Given the description of an element on the screen output the (x, y) to click on. 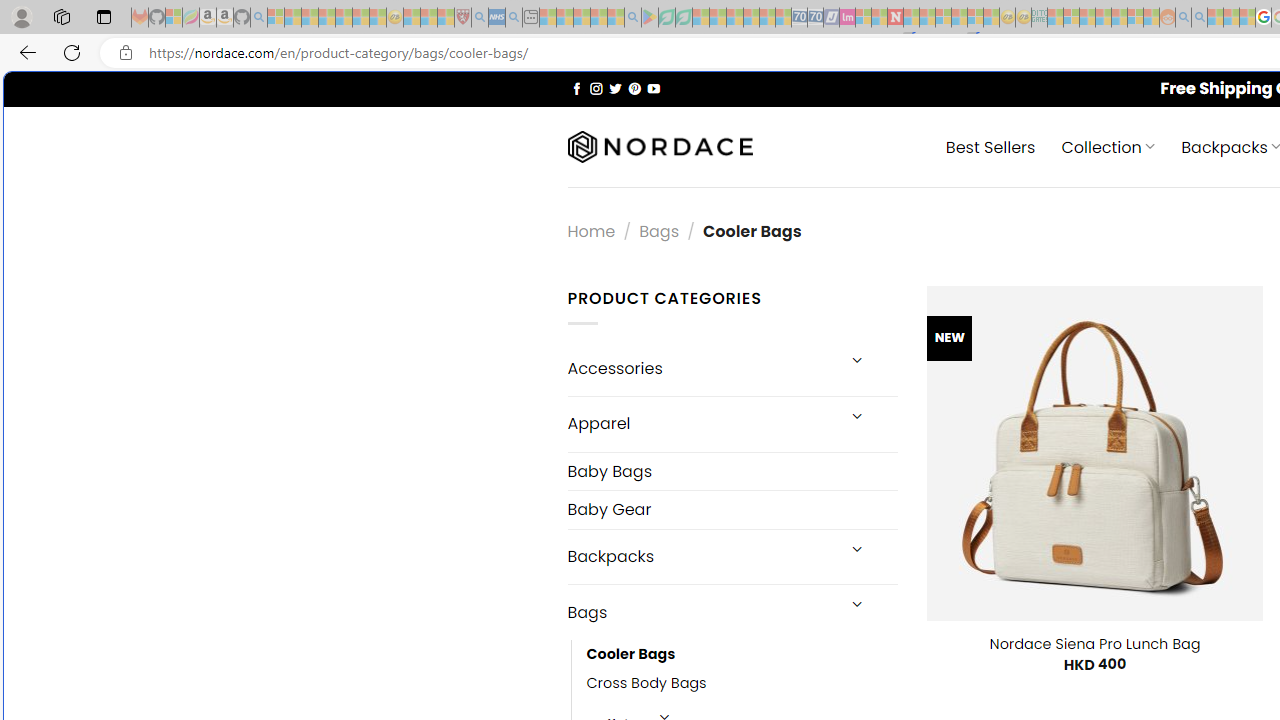
Follow on YouTube (653, 88)
Cooler Bags (630, 655)
Baby Bags (732, 470)
